Given the description of an element on the screen output the (x, y) to click on. 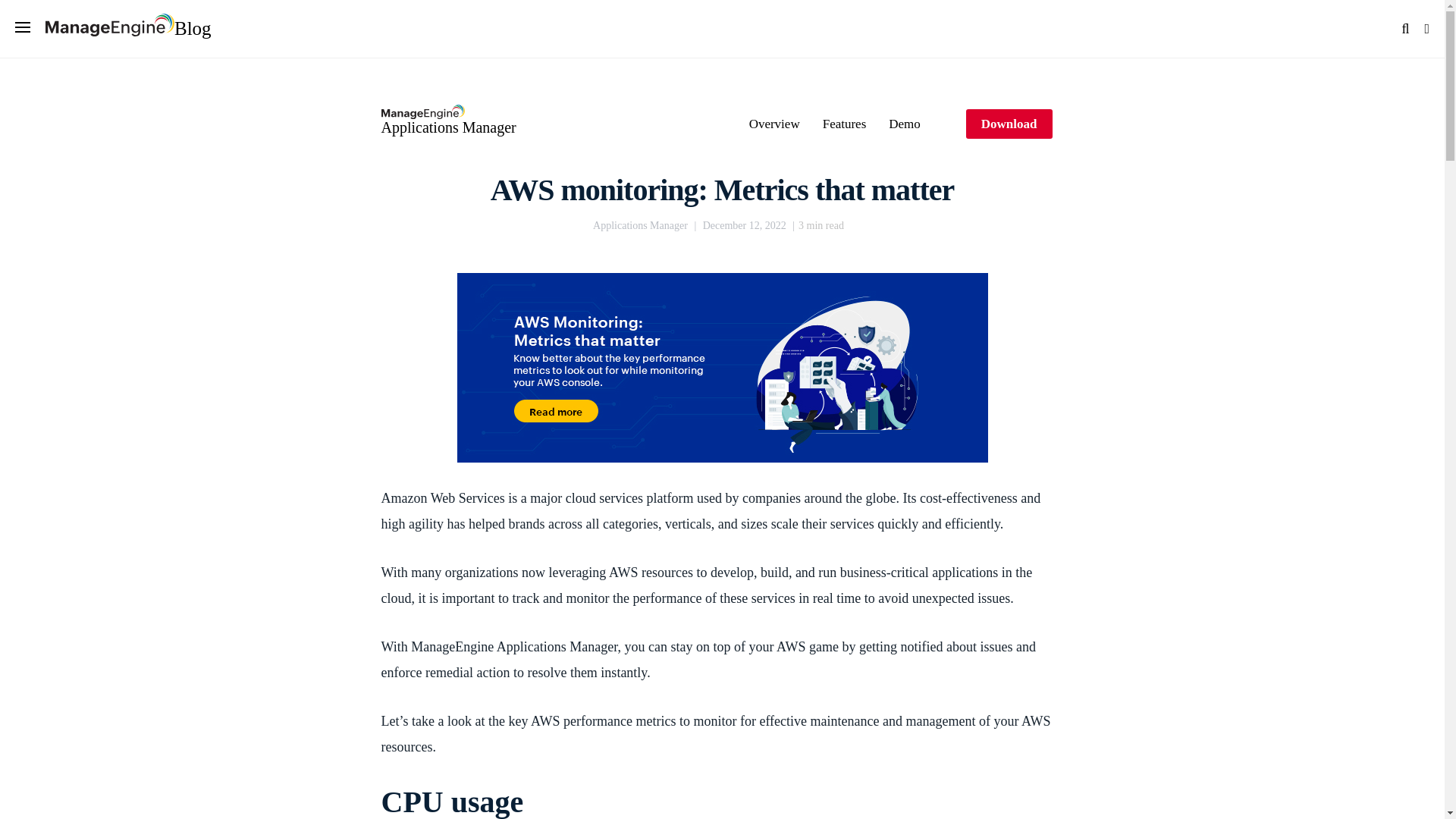
AWS monitoring: Metrics that matter (722, 189)
Download (1009, 123)
Overview (774, 124)
Applications Manager (639, 226)
Applications Manager (447, 121)
Features (844, 124)
Blog (128, 28)
